Given the description of an element on the screen output the (x, y) to click on. 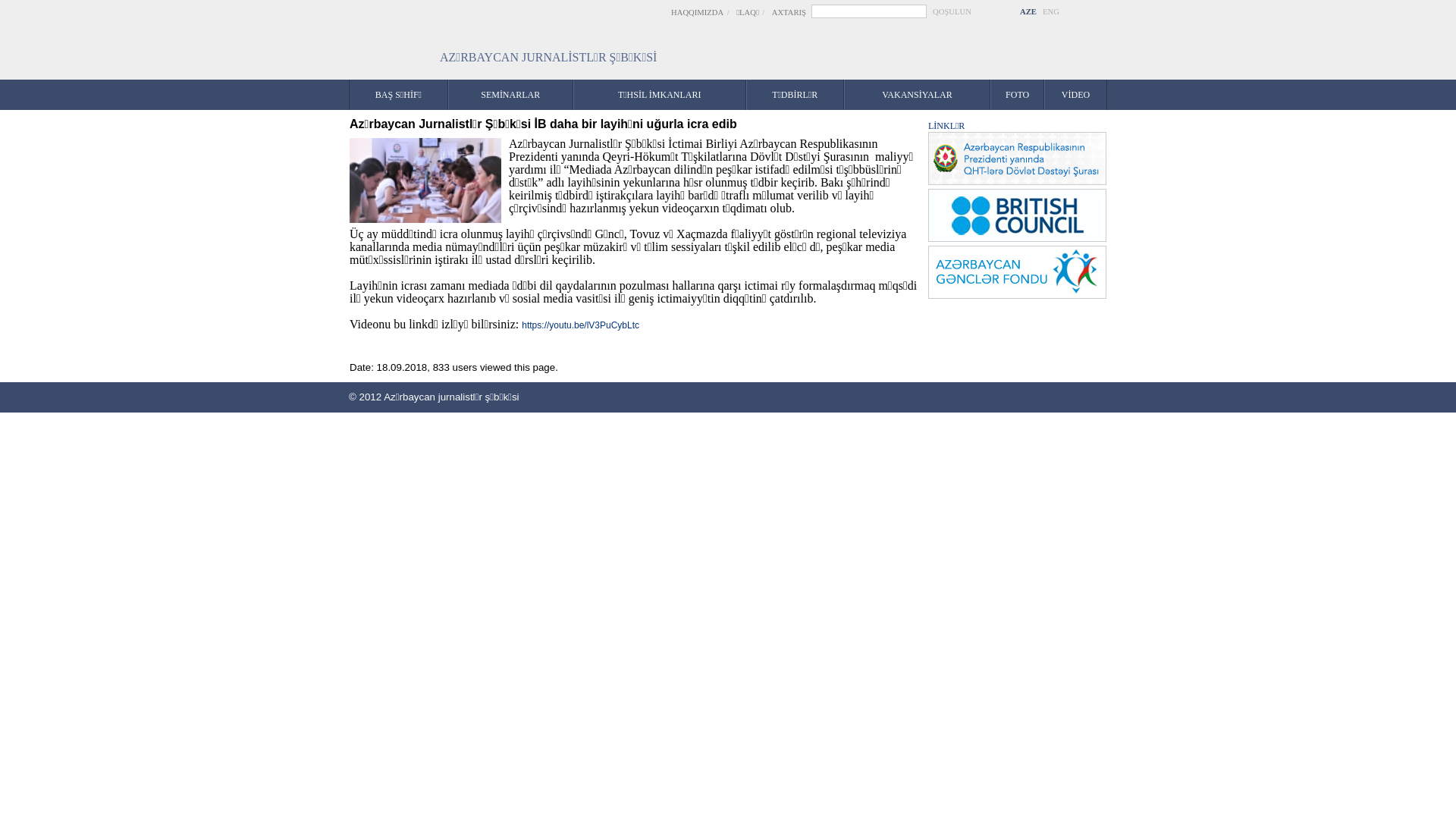
HAQQIMIZDA Element type: text (697, 12)
https://youtu.be/lV3PuCybLtc Element type: text (580, 325)
AZE Element type: text (1027, 11)
ENG Element type: text (1050, 11)
FOTO Element type: text (1017, 94)
